Given the description of an element on the screen output the (x, y) to click on. 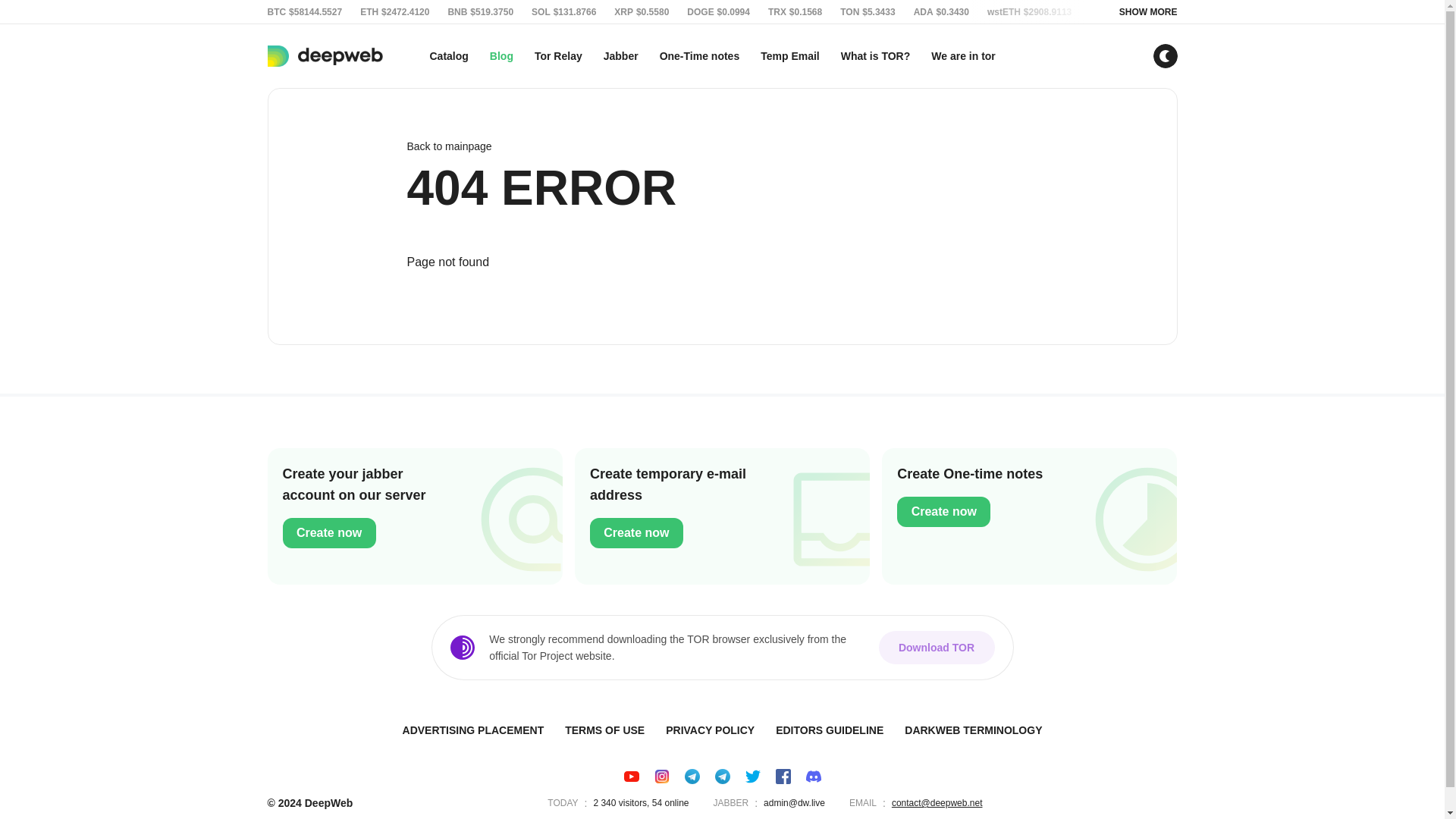
Tor Relay (558, 56)
Create now (635, 532)
Twitter (752, 776)
PRIVACY POLICY (710, 730)
Facebook (782, 776)
EDITORS GUIDELINE (829, 730)
Temp Email (789, 56)
One-Time notes (700, 56)
DARKWEB TERMINOLOGY (722, 515)
